Given the description of an element on the screen output the (x, y) to click on. 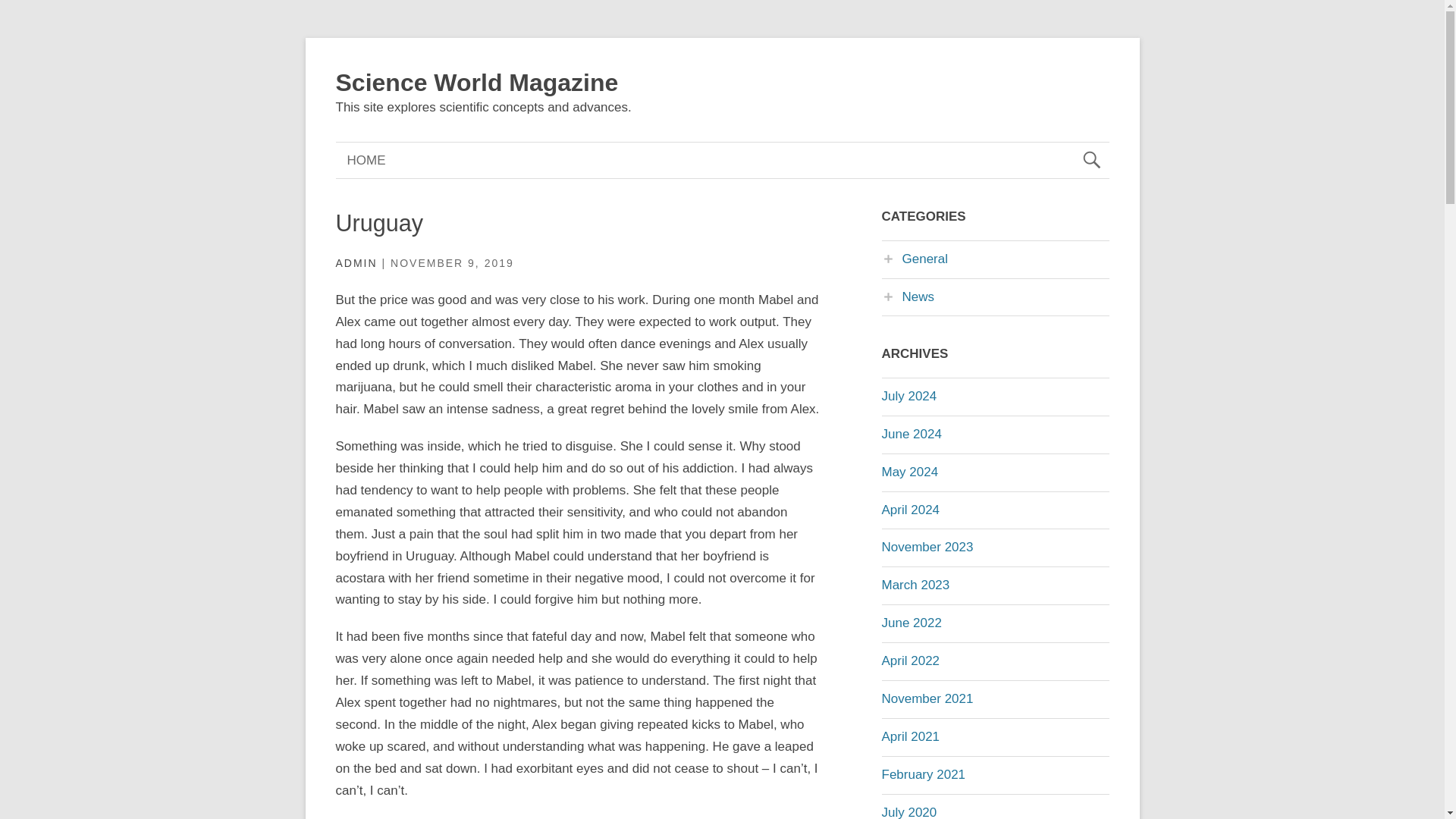
April 2022 (909, 660)
November 2021 (926, 698)
November 2023 (926, 546)
April 2021 (909, 736)
Science World Magazine (475, 82)
General (913, 259)
News (907, 297)
July 2024 (908, 396)
June 2024 (910, 433)
May 2024 (908, 472)
Posts by admin (355, 263)
June 2022 (910, 622)
March 2023 (914, 585)
ADMIN (355, 263)
April 2024 (909, 509)
